Given the description of an element on the screen output the (x, y) to click on. 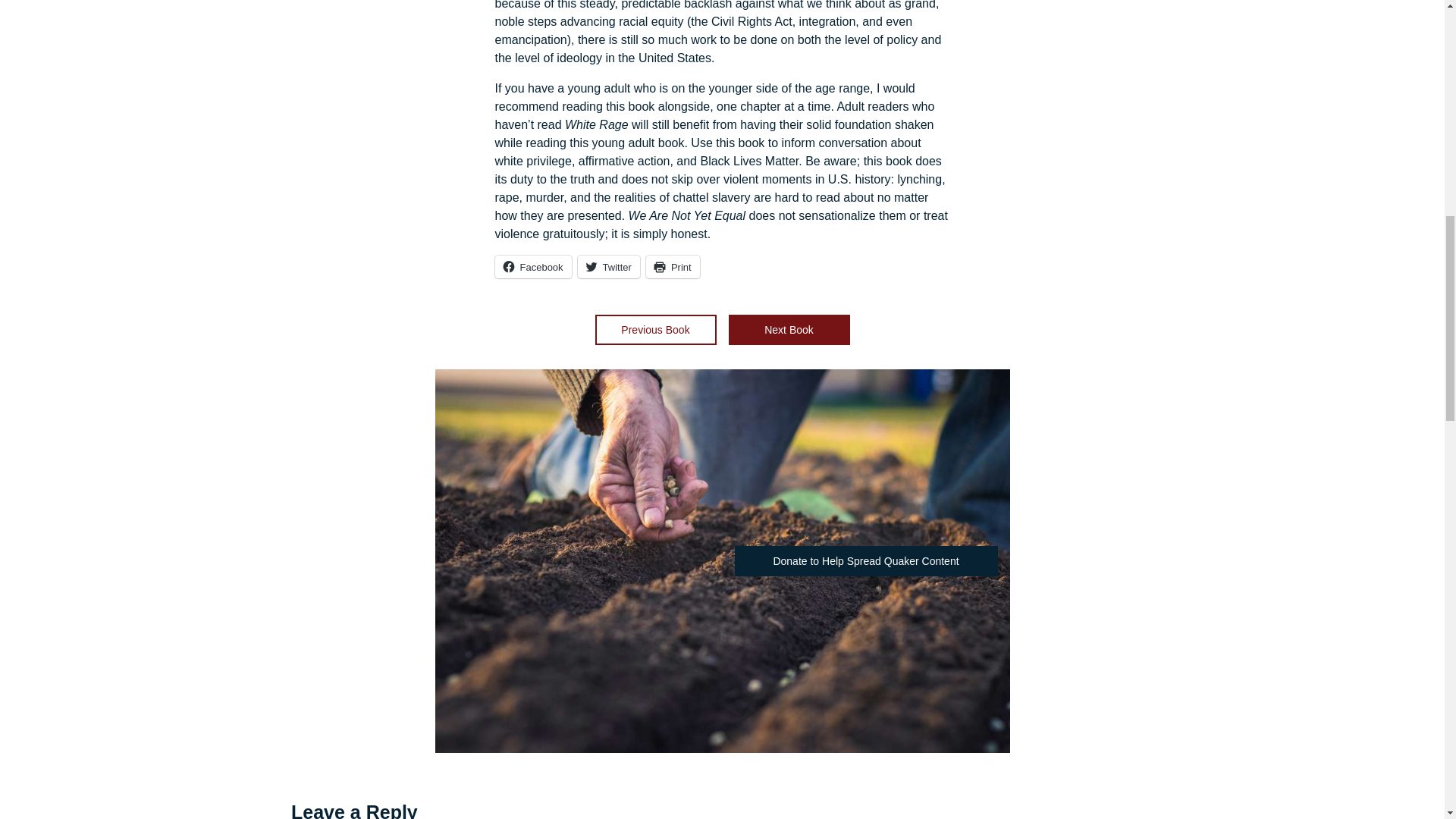
Print (673, 266)
Facebook (532, 266)
Donate to Help Spread Quaker Content (865, 561)
Click to share on Facebook (532, 266)
Click to share on Twitter (609, 266)
Previous Book (655, 329)
Click to print (673, 266)
Twitter (609, 266)
Next Book (788, 329)
